Given the description of an element on the screen output the (x, y) to click on. 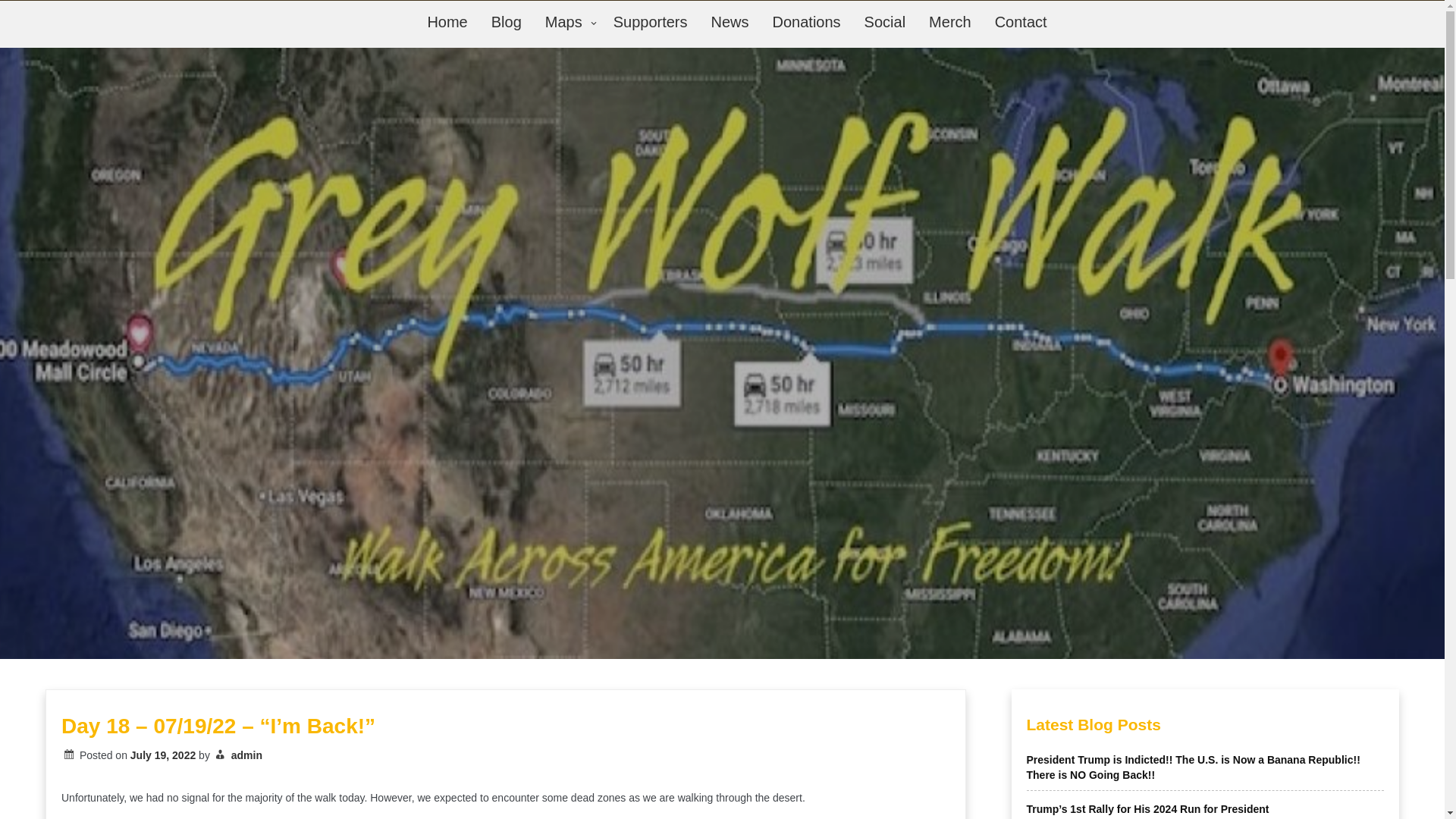
Merch (950, 22)
Blog (507, 22)
admin (246, 755)
July 19, 2022 (163, 755)
Supporters (651, 22)
Social (885, 22)
Donations (807, 22)
Contact (1021, 22)
Maps (568, 23)
Home (446, 22)
